Given the description of an element on the screen output the (x, y) to click on. 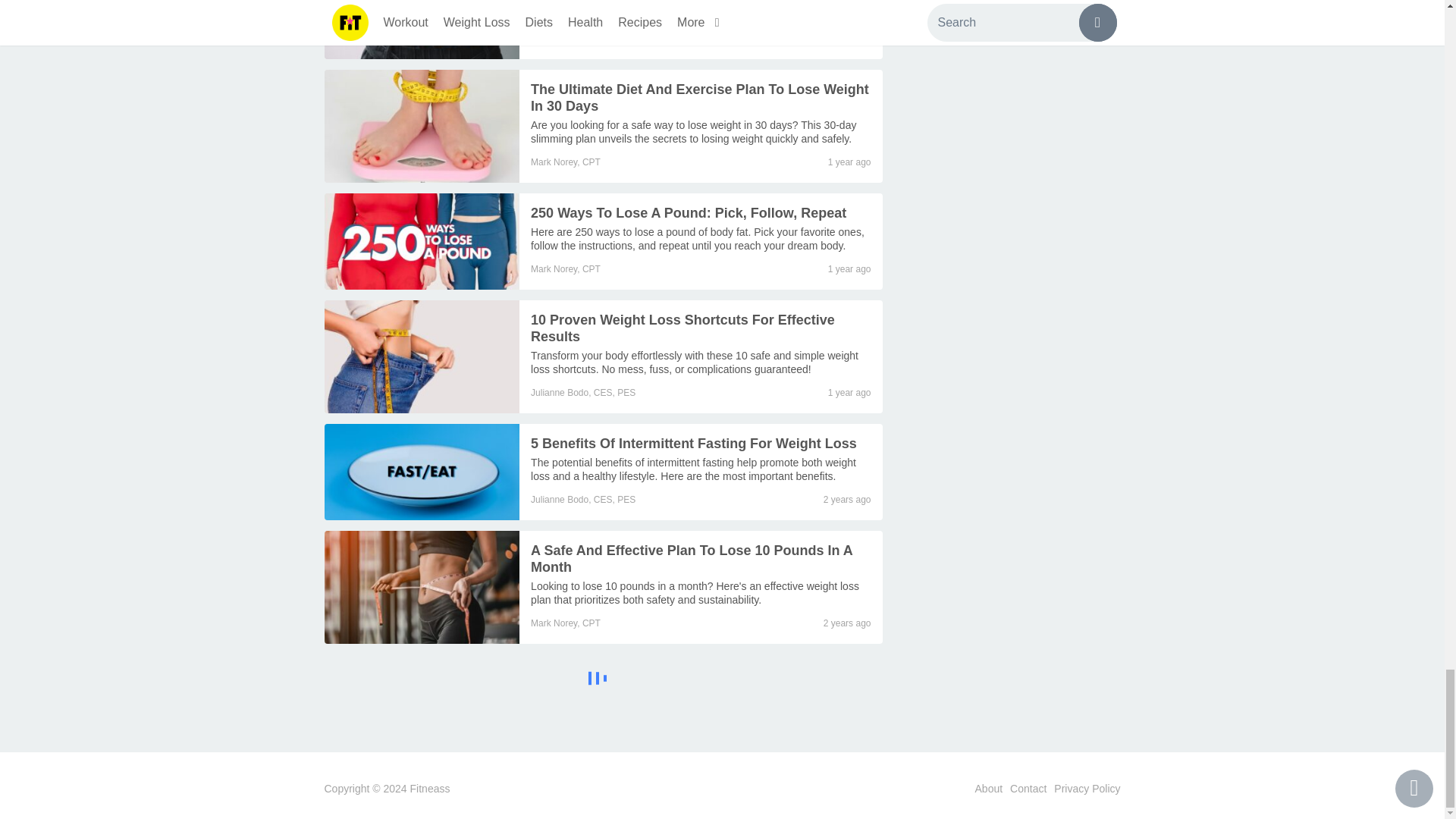
Searching for more related posts... (603, 680)
